Given the description of an element on the screen output the (x, y) to click on. 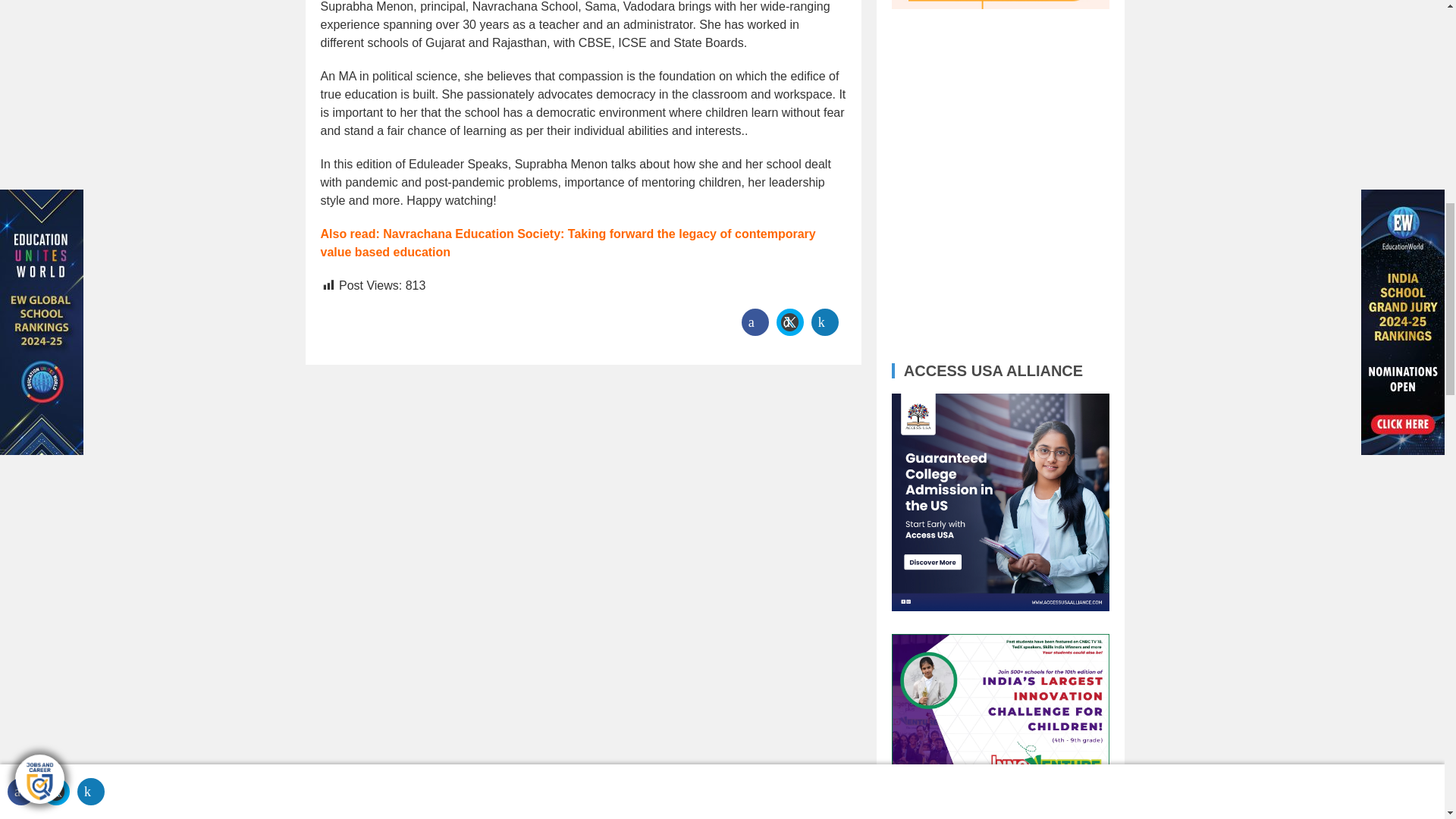
Access USA Alliance (1000, 501)
